Given the description of an element on the screen output the (x, y) to click on. 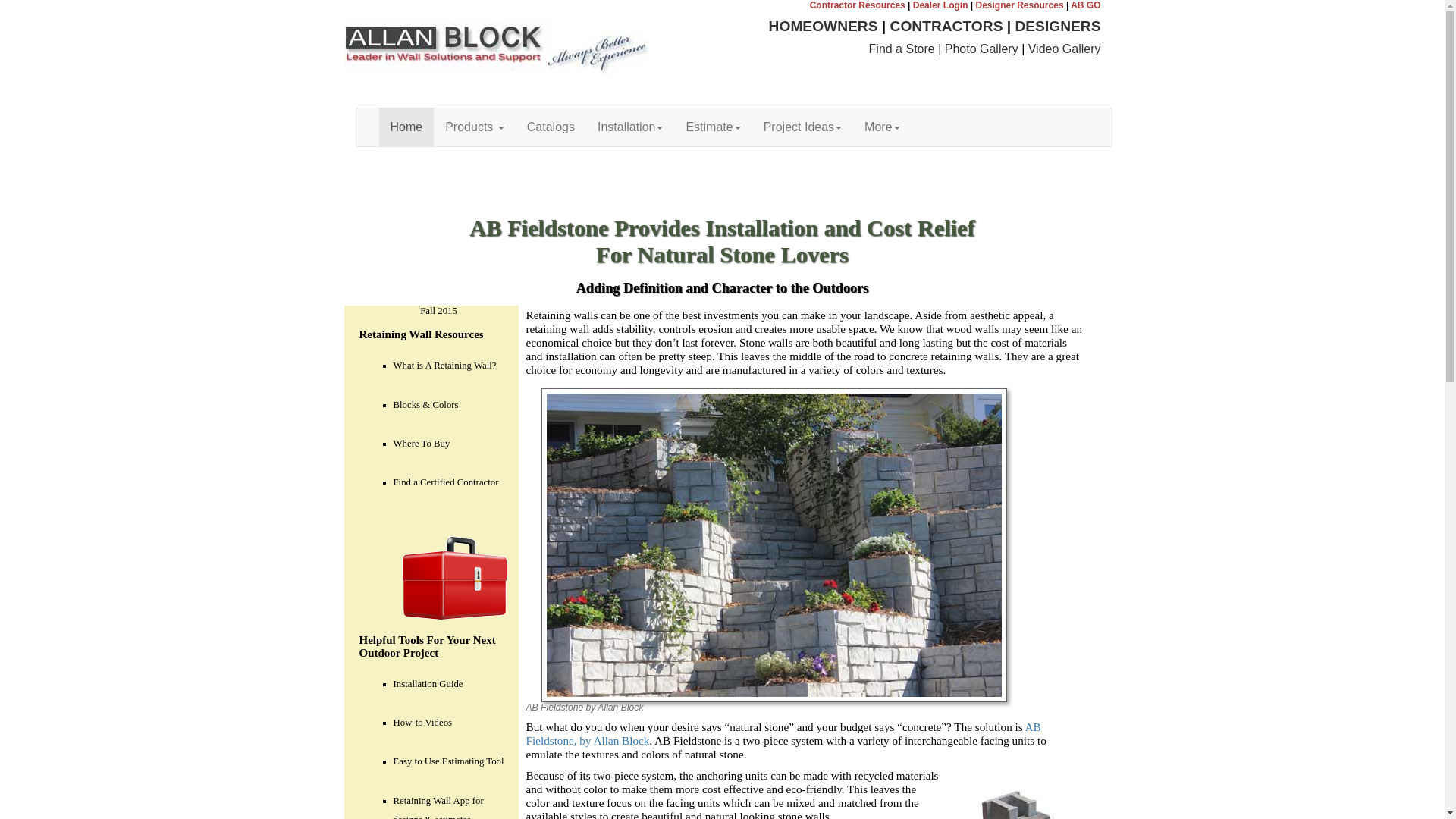
Dealer Login (940, 5)
HOMEOWNERS (822, 26)
Designer Resources (1018, 5)
AB GO (1085, 5)
Estimate (712, 127)
Project Ideas (802, 127)
Products (474, 127)
Photo Gallery (980, 48)
Catalogs (550, 127)
Video Gallery (1063, 48)
DESIGNERS (1057, 26)
Installation (630, 127)
Find a Store (901, 48)
Contractor Resources (857, 5)
CONTRACTORS (946, 26)
